Given the description of an element on the screen output the (x, y) to click on. 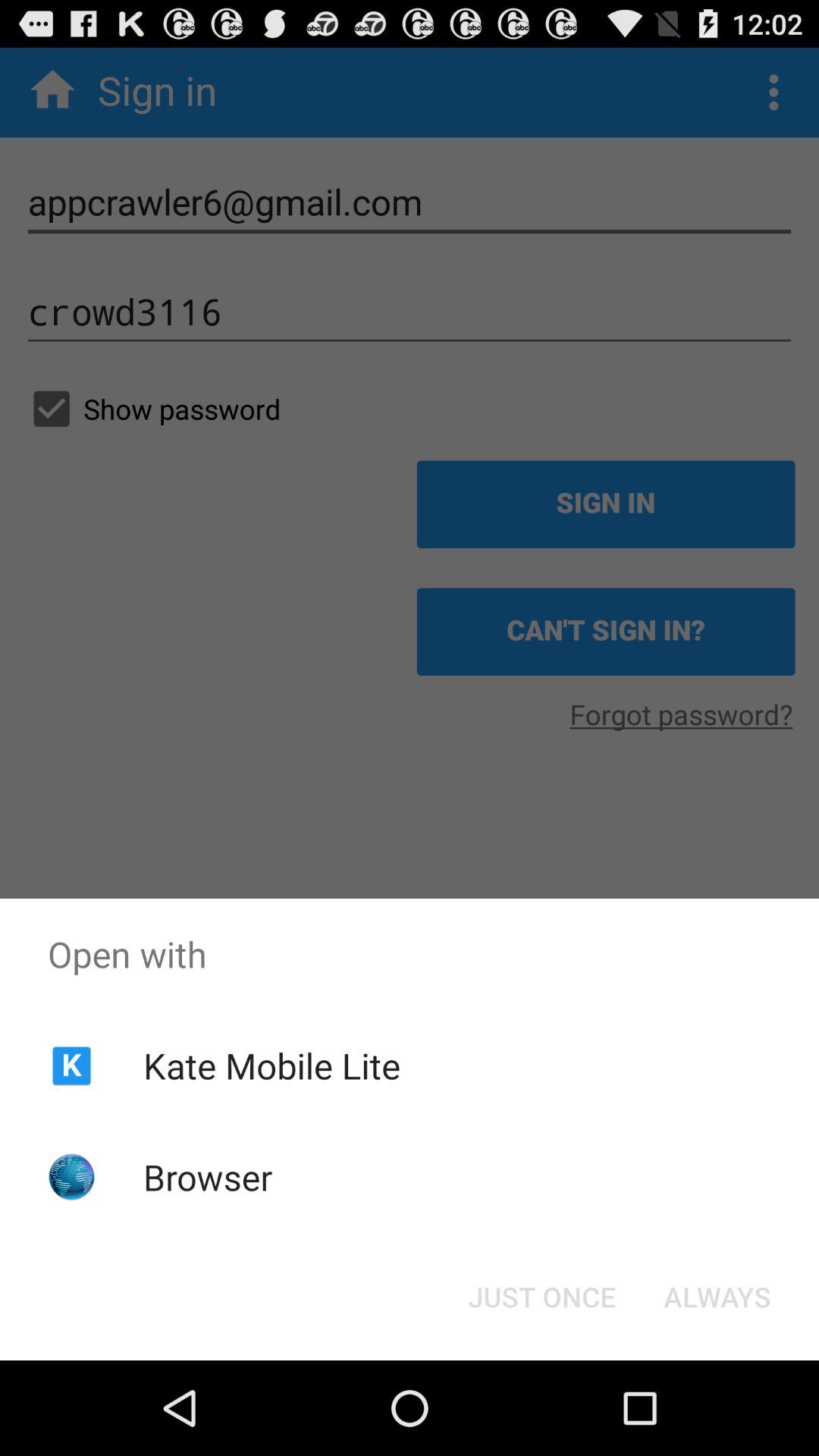
press the always at the bottom right corner (717, 1296)
